Given the description of an element on the screen output the (x, y) to click on. 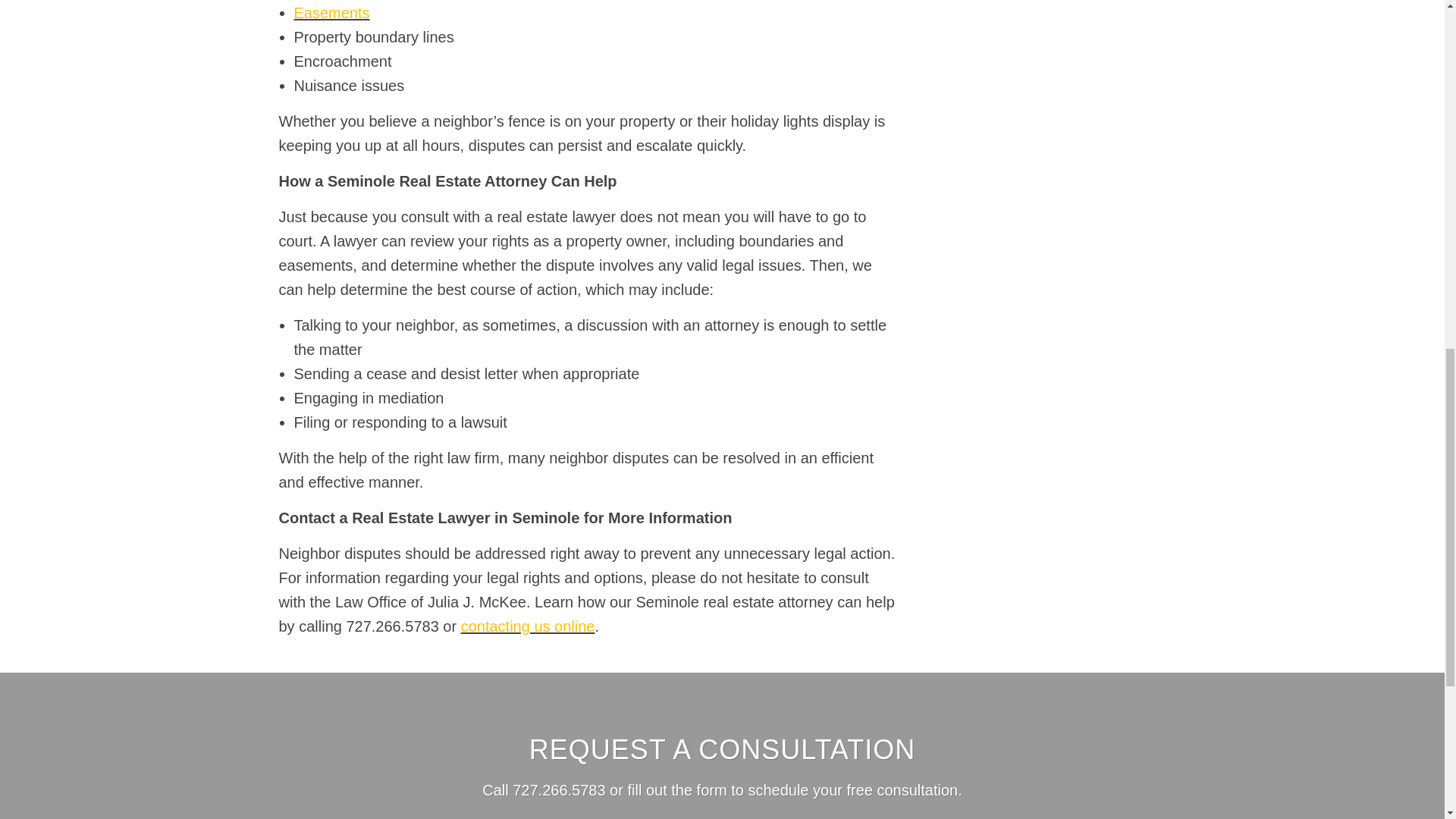
727.266.5783 (558, 790)
Easements (331, 12)
contacting us online (528, 626)
